Given the description of an element on the screen output the (x, y) to click on. 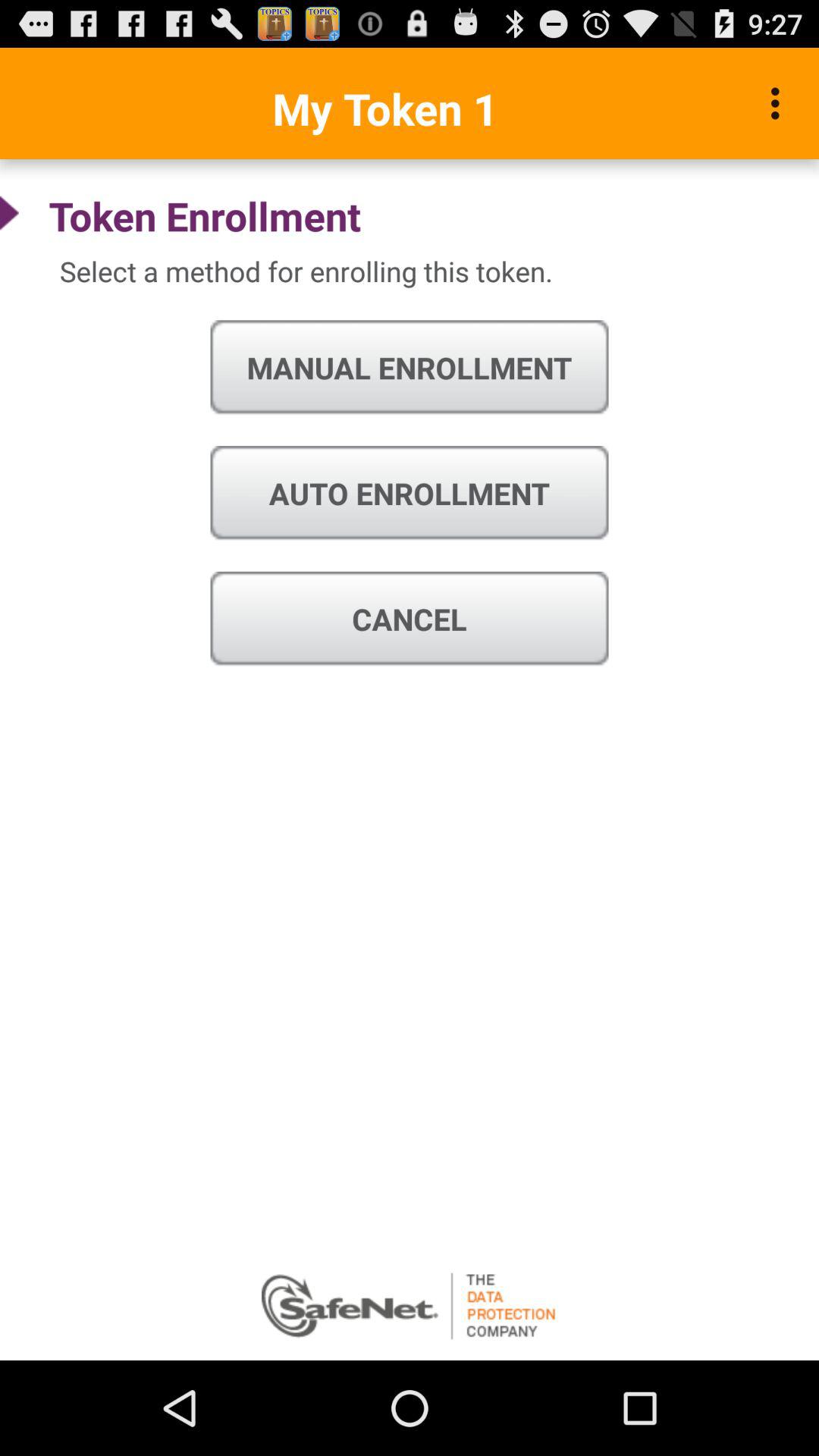
click icon above cancel item (409, 493)
